Given the description of an element on the screen output the (x, y) to click on. 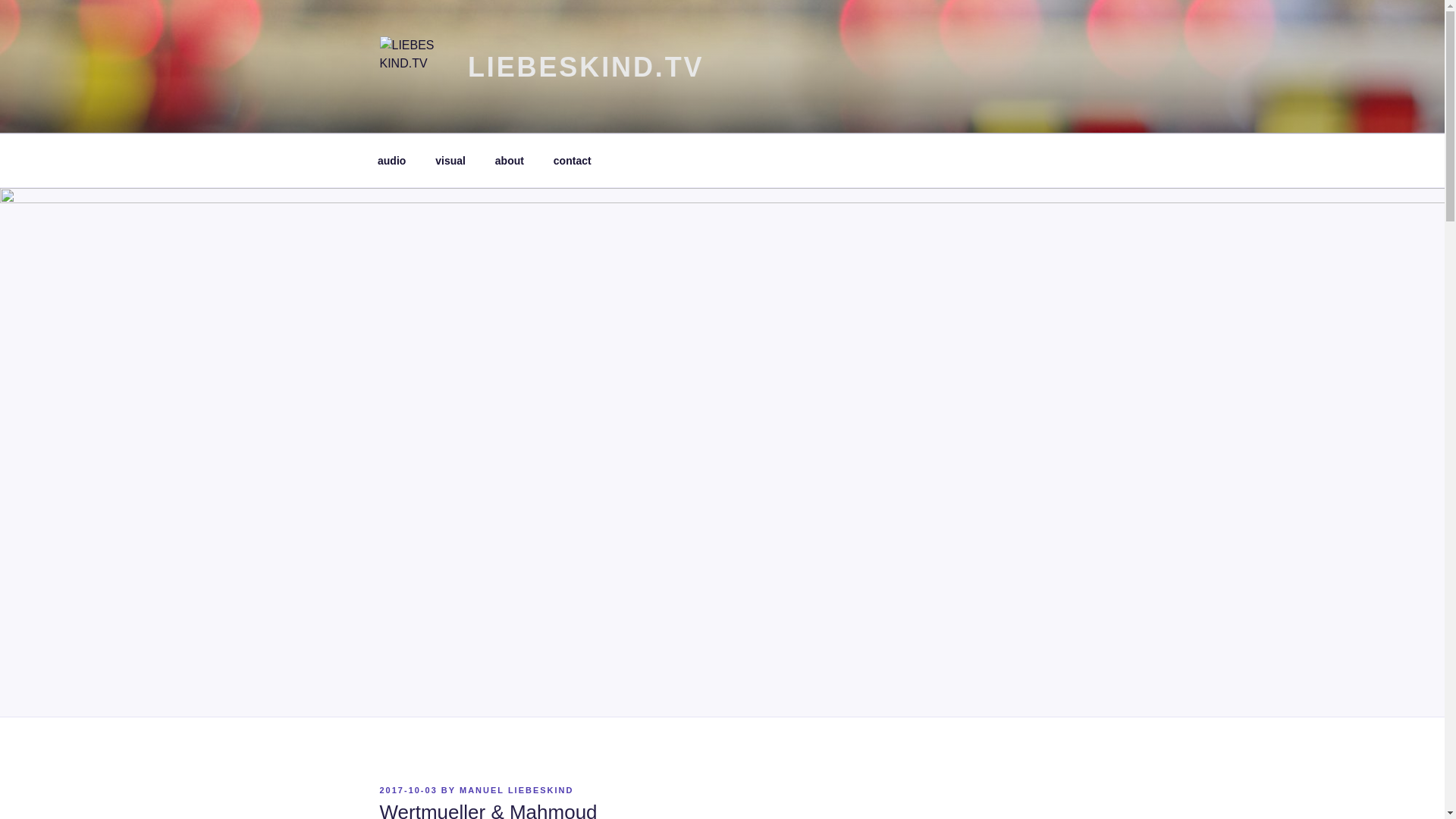
contact (572, 160)
visual (450, 160)
MANUEL LIEBESKIND (516, 789)
2017-10-03 (407, 789)
audio (391, 160)
LIEBESKIND.TV (585, 66)
about (509, 160)
